Given the description of an element on the screen output the (x, y) to click on. 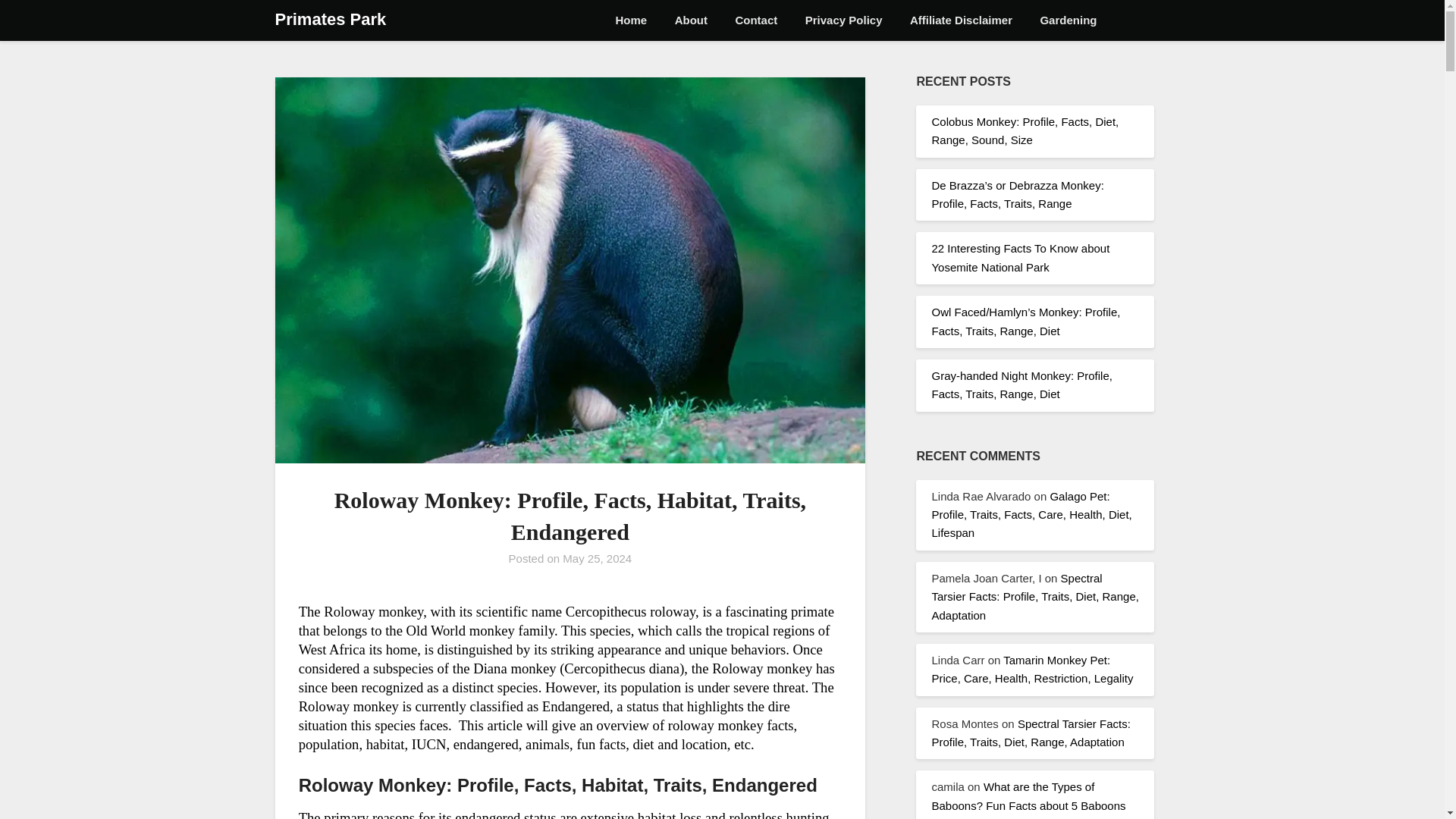
Privacy Policy (844, 20)
Primates Park (330, 19)
Home (631, 20)
About (690, 20)
Affiliate Disclaimer (961, 20)
Gardening (1067, 20)
Colobus Monkey: Profile, Facts, Diet, Range, Sound, Size (1024, 130)
May 25, 2024 (596, 558)
Contact (755, 20)
22 Interesting Facts To Know about Yosemite National Park (1020, 256)
